Given the description of an element on the screen output the (x, y) to click on. 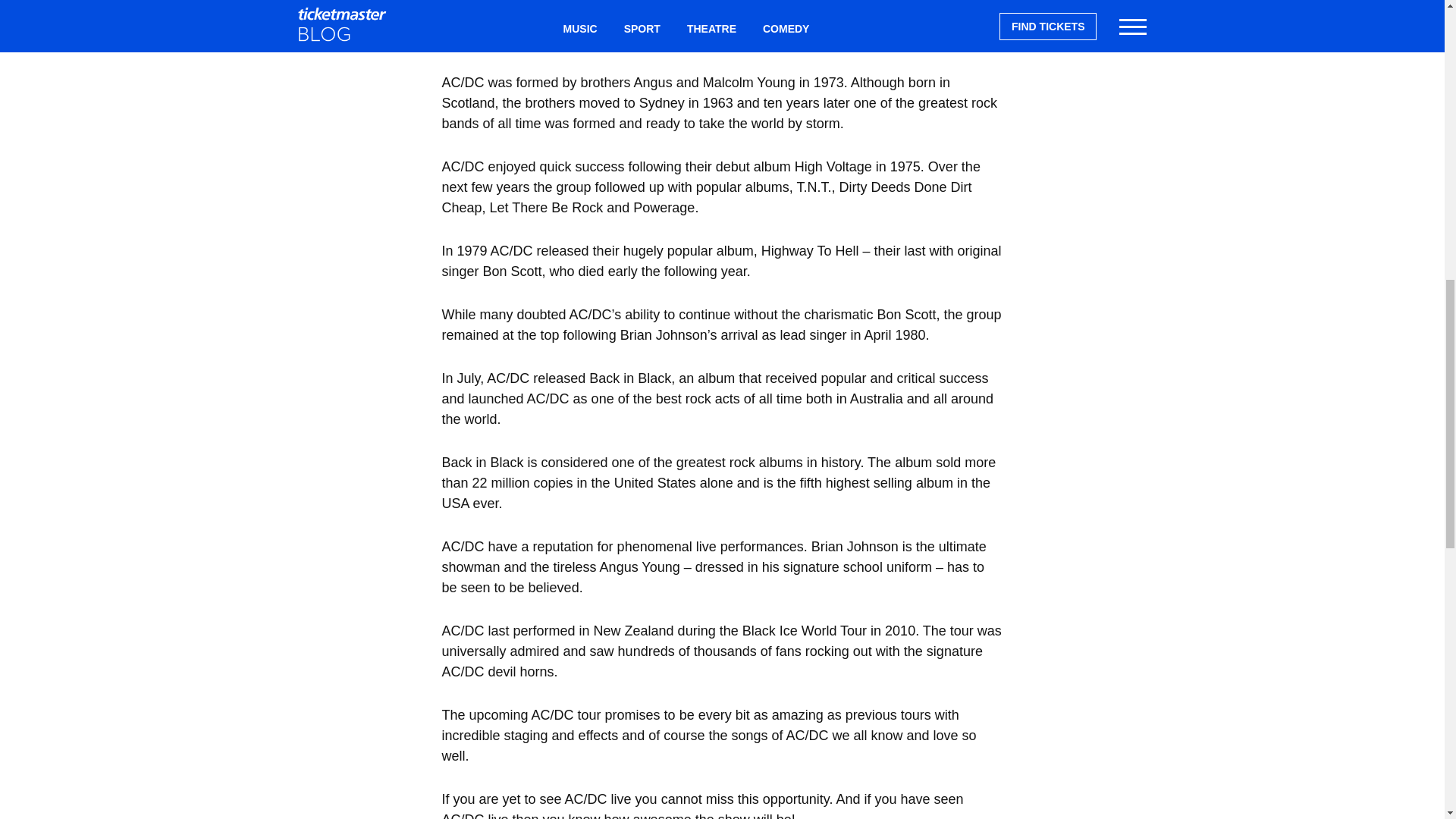
Click here (956, 18)
